Given the description of an element on the screen output the (x, y) to click on. 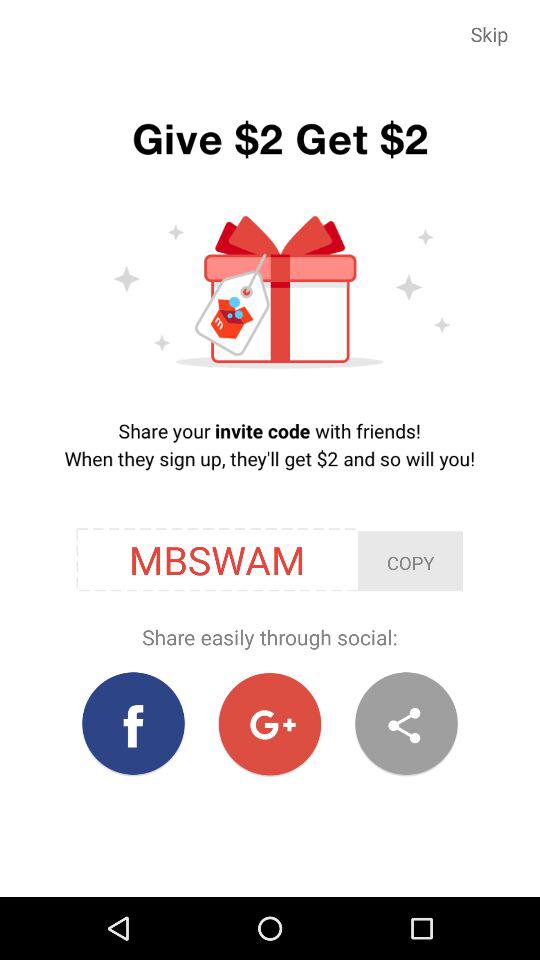
scroll until the skip (489, 34)
